Given the description of an element on the screen output the (x, y) to click on. 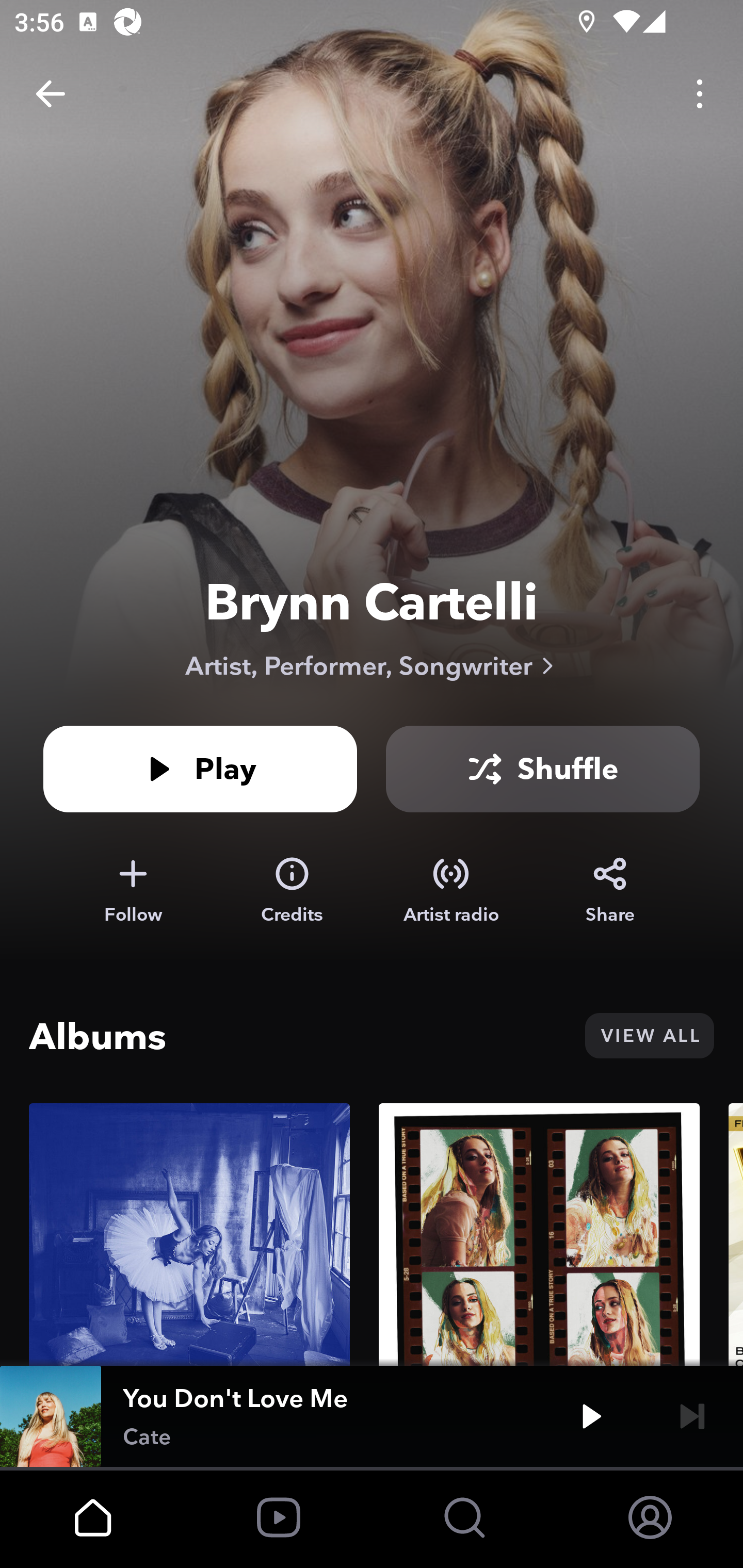
Options (699, 93)
Artist, Performer, Songwriter (371, 665)
Play (200, 768)
Shuffle (542, 768)
Follow (132, 890)
Credits (291, 890)
Artist radio (450, 890)
Share (609, 890)
VIEW ALL (649, 1035)
You Don't Love Me Cate Play (371, 1416)
Play (590, 1416)
